Given the description of an element on the screen output the (x, y) to click on. 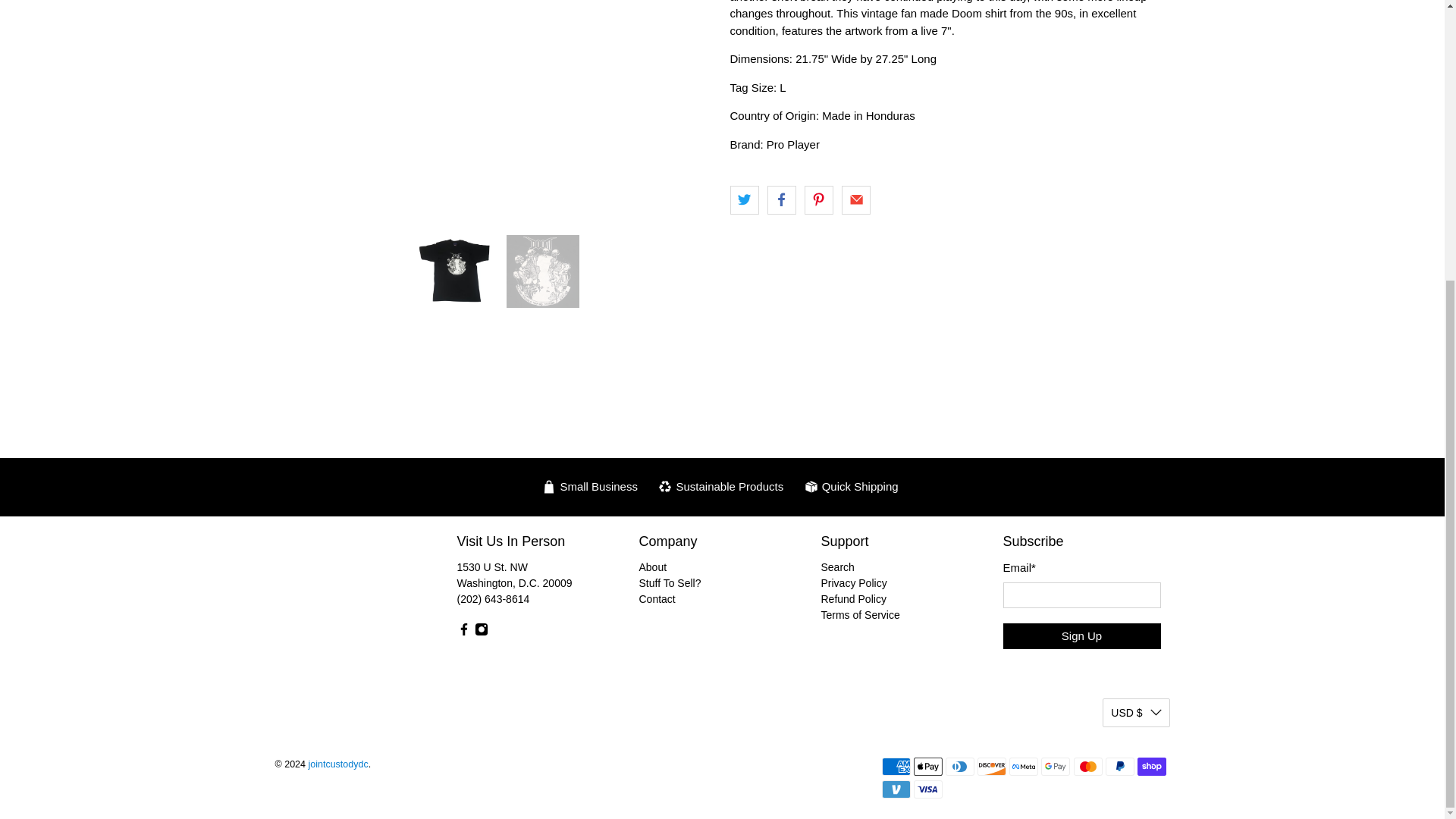
Diners Club (959, 766)
Discover (991, 766)
Vintage Doom "Multinationals, Raping Mother Nature" T-Shirt (494, 110)
jointcustodydc on Instagram (480, 632)
Google Pay (1055, 766)
Terms of Service (860, 614)
Search (837, 567)
jointcustodydc on Facebook (463, 632)
Meta Pay (1023, 766)
Refund Policy (853, 598)
